Given the description of an element on the screen output the (x, y) to click on. 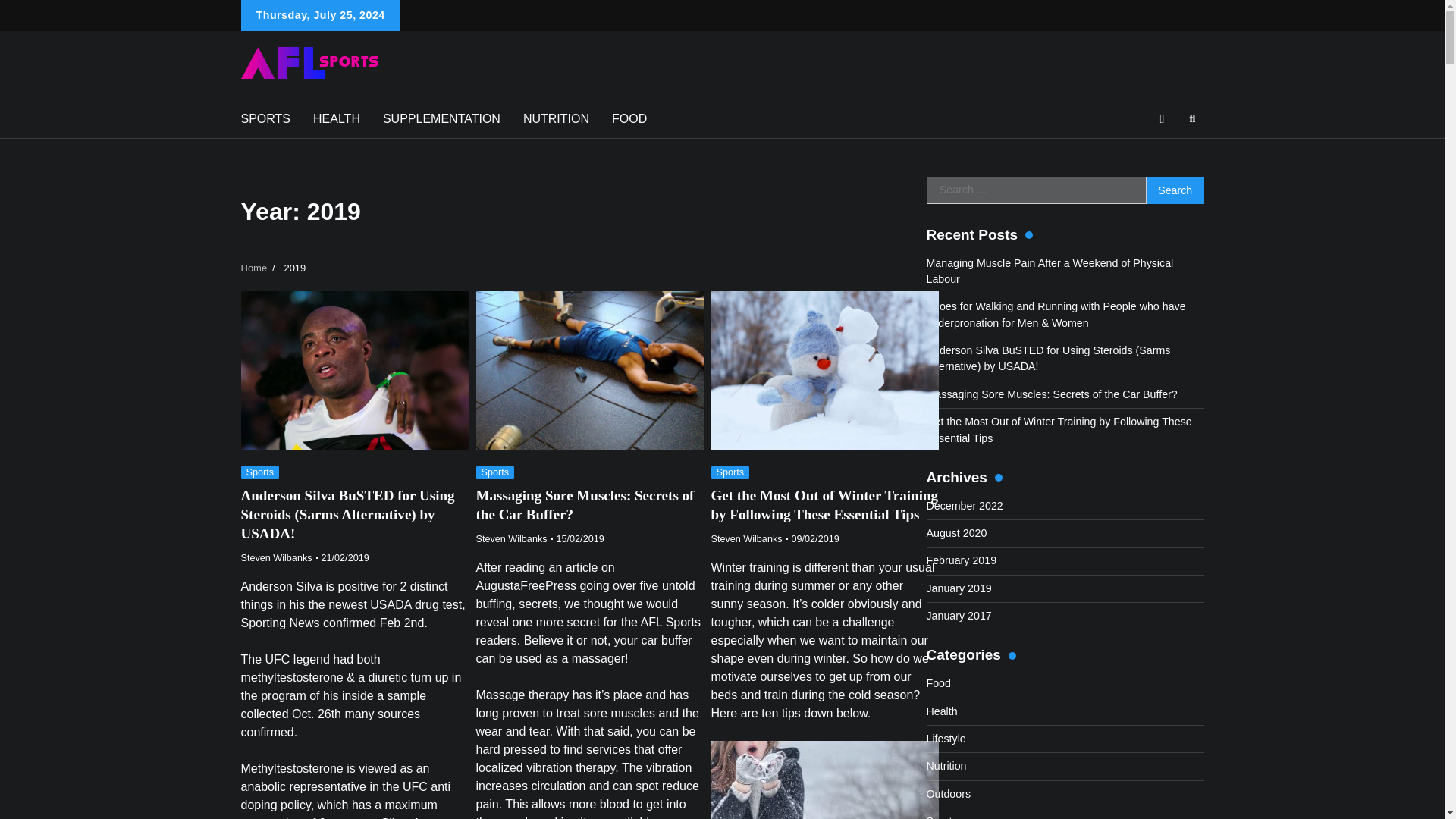
SPORTS (264, 118)
Massaging Sore Muscles: Secrets of the Car Buffer? (585, 504)
HEALTH (336, 118)
Steven Wilbanks (277, 557)
FOOD (628, 118)
Sports (495, 472)
Search (1164, 154)
Sports (730, 472)
Sports (260, 472)
Search (1192, 118)
Search (1175, 189)
Steven Wilbanks (747, 538)
Home (254, 267)
SUPPLEMENTATION (441, 118)
